Given the description of an element on the screen output the (x, y) to click on. 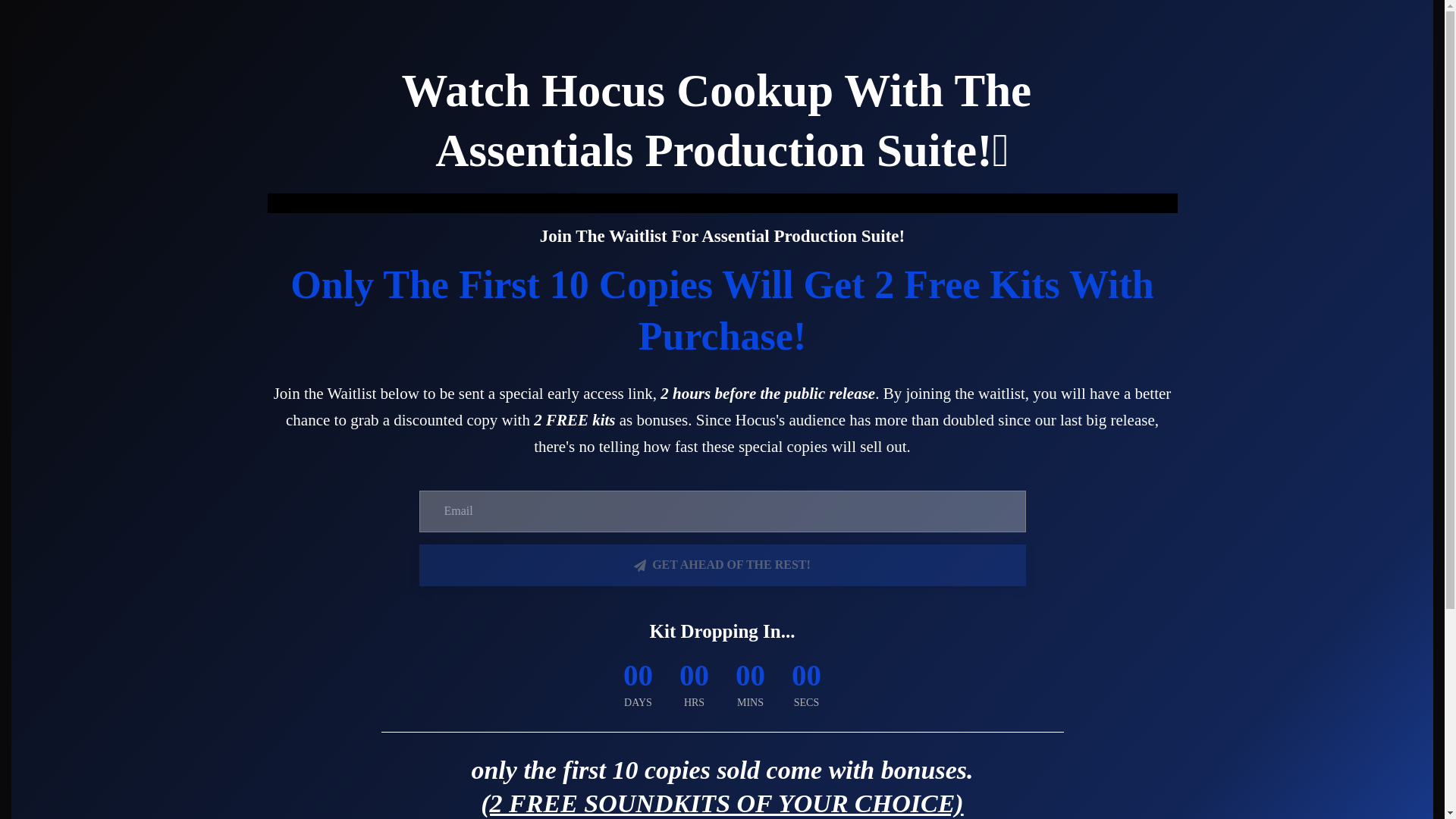
Video (721, 202)
GET AHEAD OF THE REST! (722, 565)
